Given the description of an element on the screen output the (x, y) to click on. 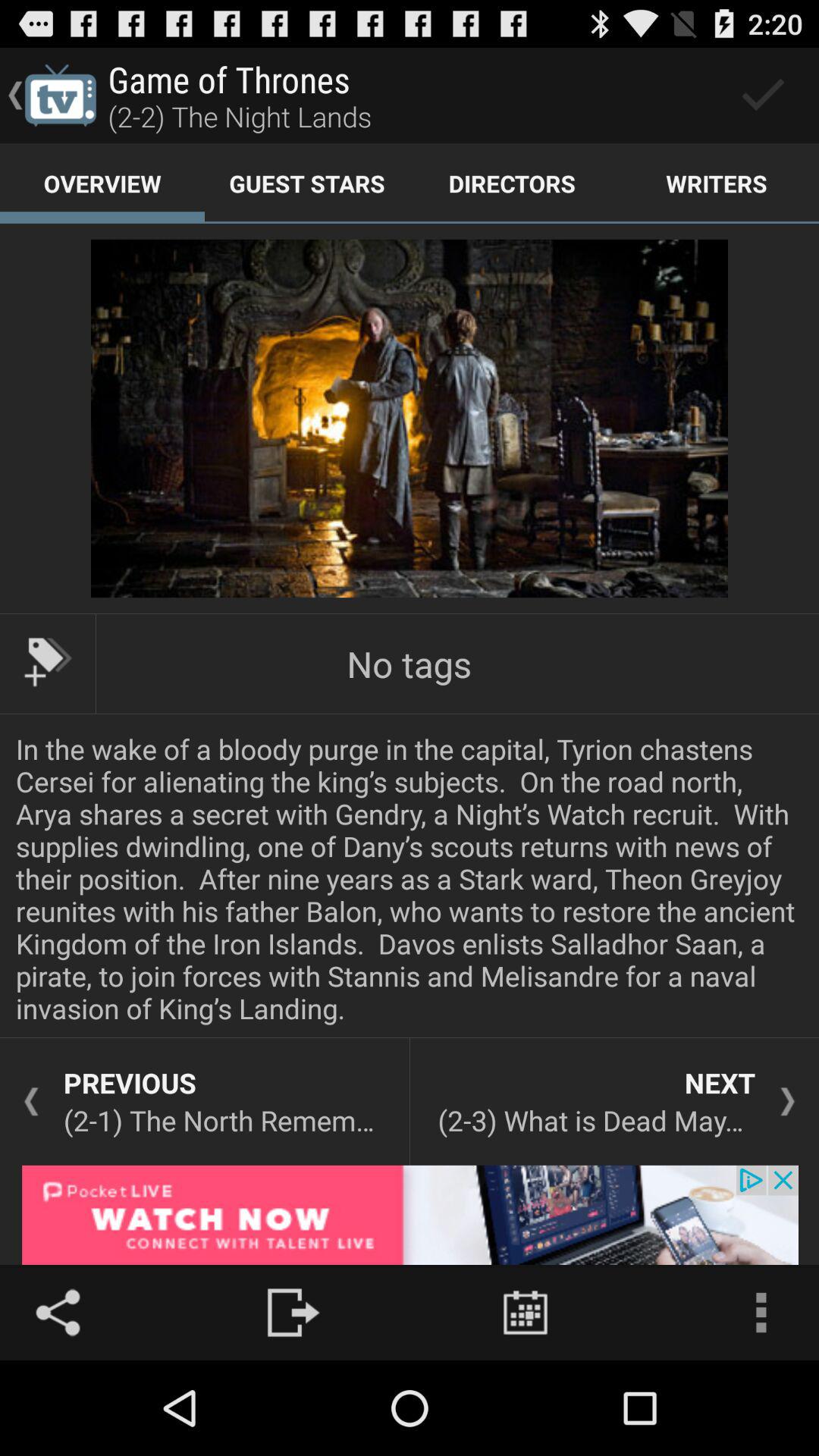
add tag (47, 661)
